Given the description of an element on the screen output the (x, y) to click on. 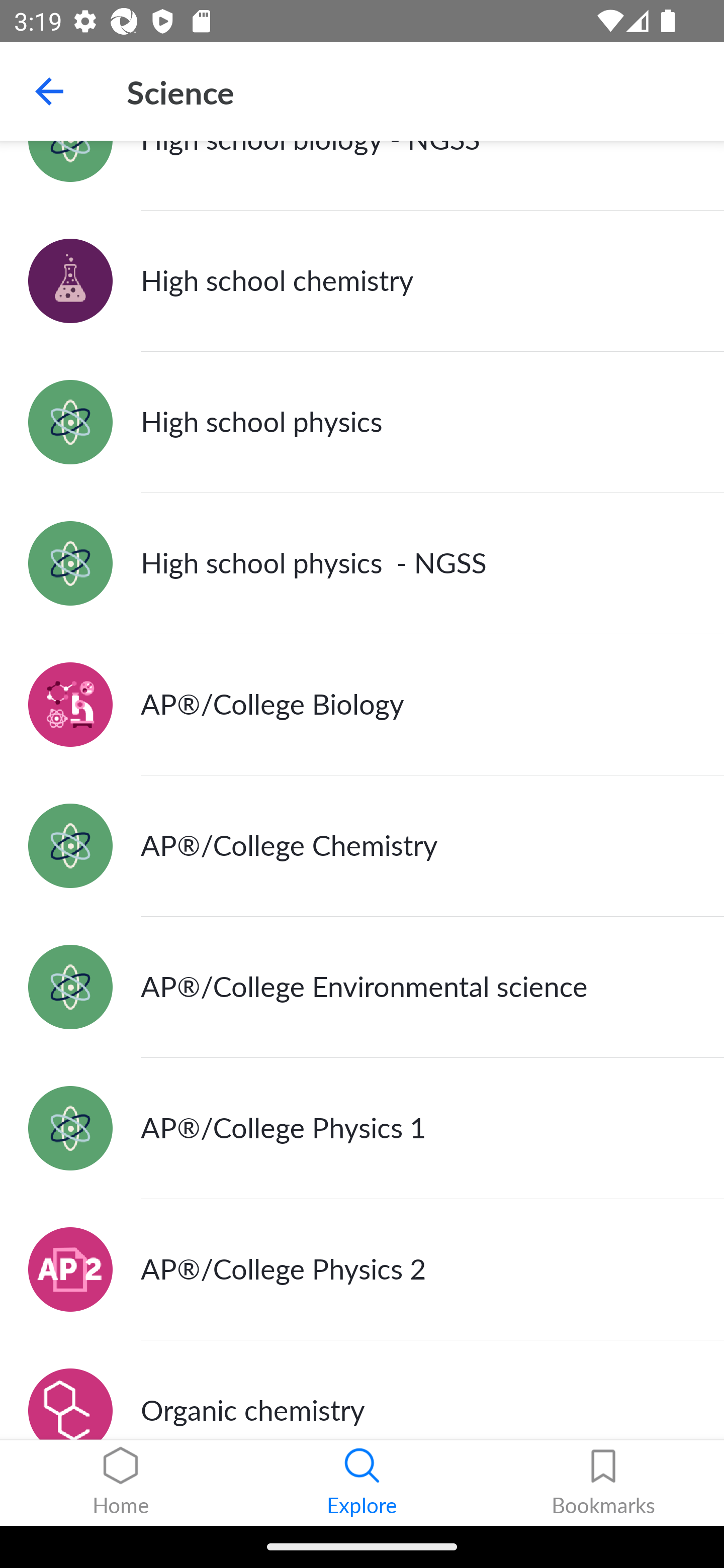
Navigate up (49, 91)
High school chemistry (362, 280)
High school physics (362, 421)
High school physics  - NGSS (362, 562)
AP®︎/College Biology (362, 704)
AP®︎/College Chemistry (362, 846)
AP®︎/College Environmental science (362, 987)
AP®︎/College Physics 1 (362, 1128)
AP®︎/College Physics 2 (362, 1269)
Organic chemistry (362, 1389)
Home (120, 1482)
Explore (361, 1482)
Bookmarks (603, 1482)
